Given the description of an element on the screen output the (x, y) to click on. 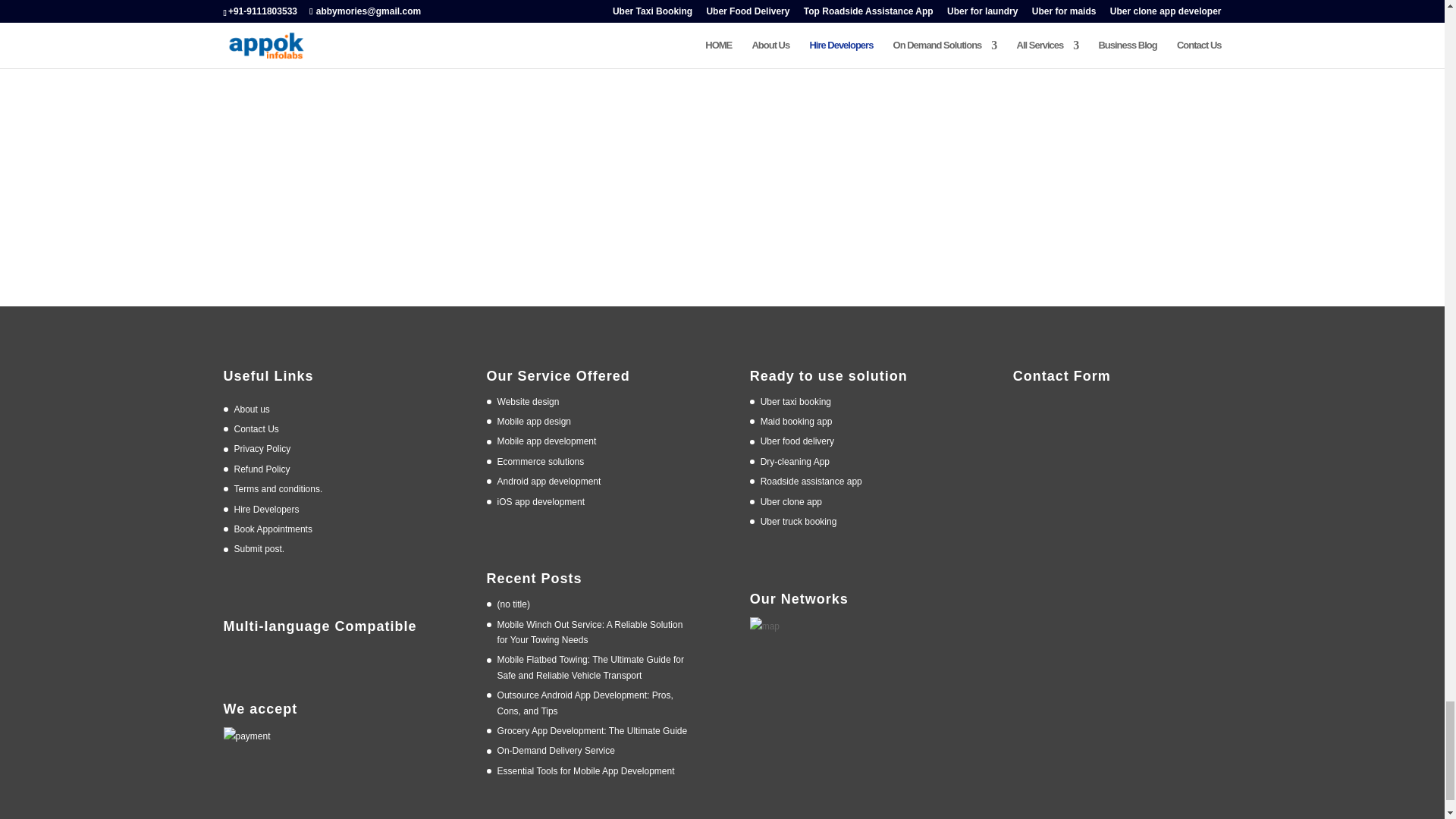
Our Networks (763, 627)
We accepts (245, 736)
